Given the description of an element on the screen output the (x, y) to click on. 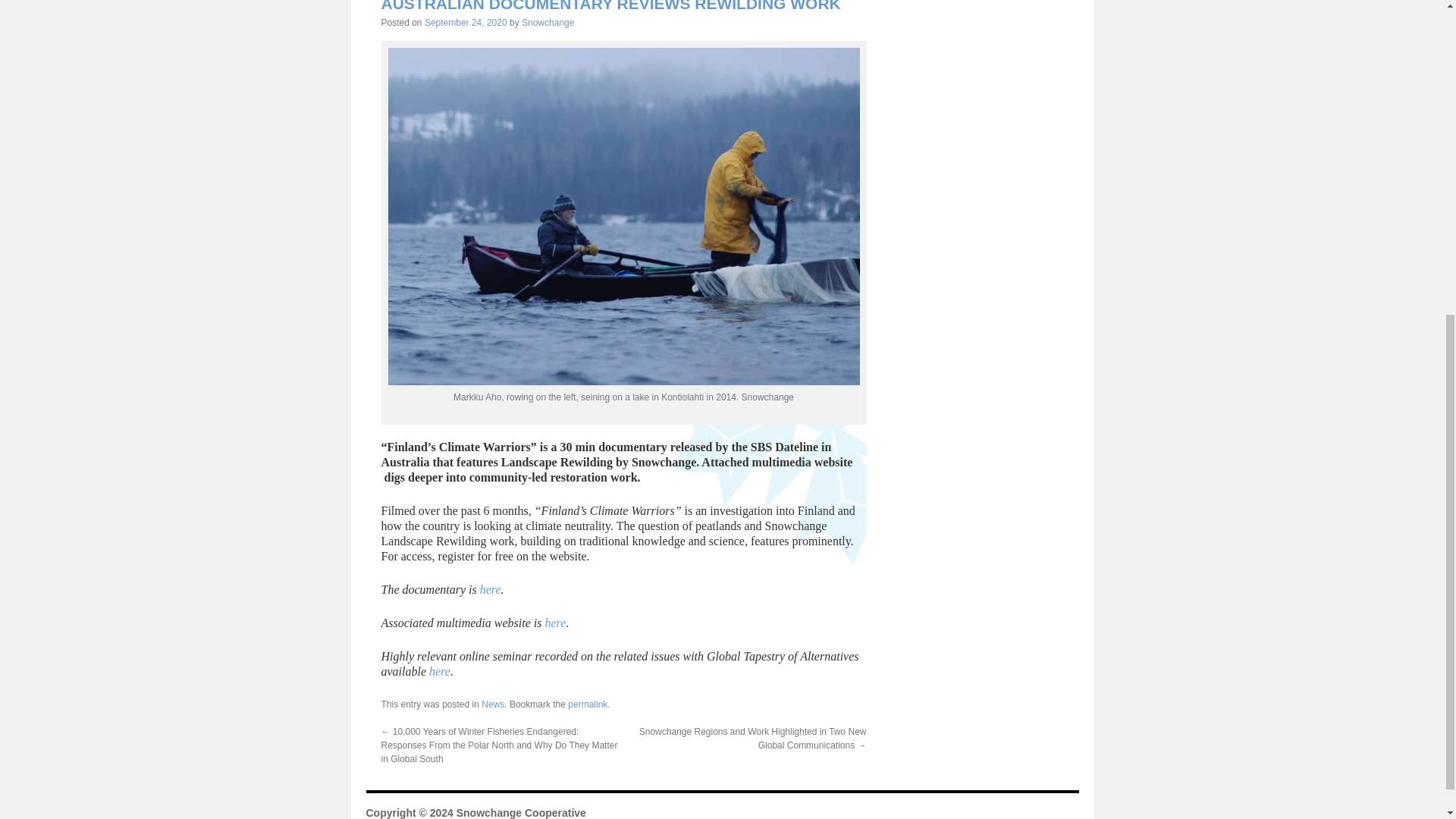
September 24, 2020 (465, 22)
8:25 am (465, 22)
sbs (490, 589)
gta (439, 671)
View all posts by Snowchange (547, 22)
Permalink to Australian Documentary Reviews Rewilding Work (587, 704)
f (555, 622)
Snowchange (547, 22)
